Given the description of an element on the screen output the (x, y) to click on. 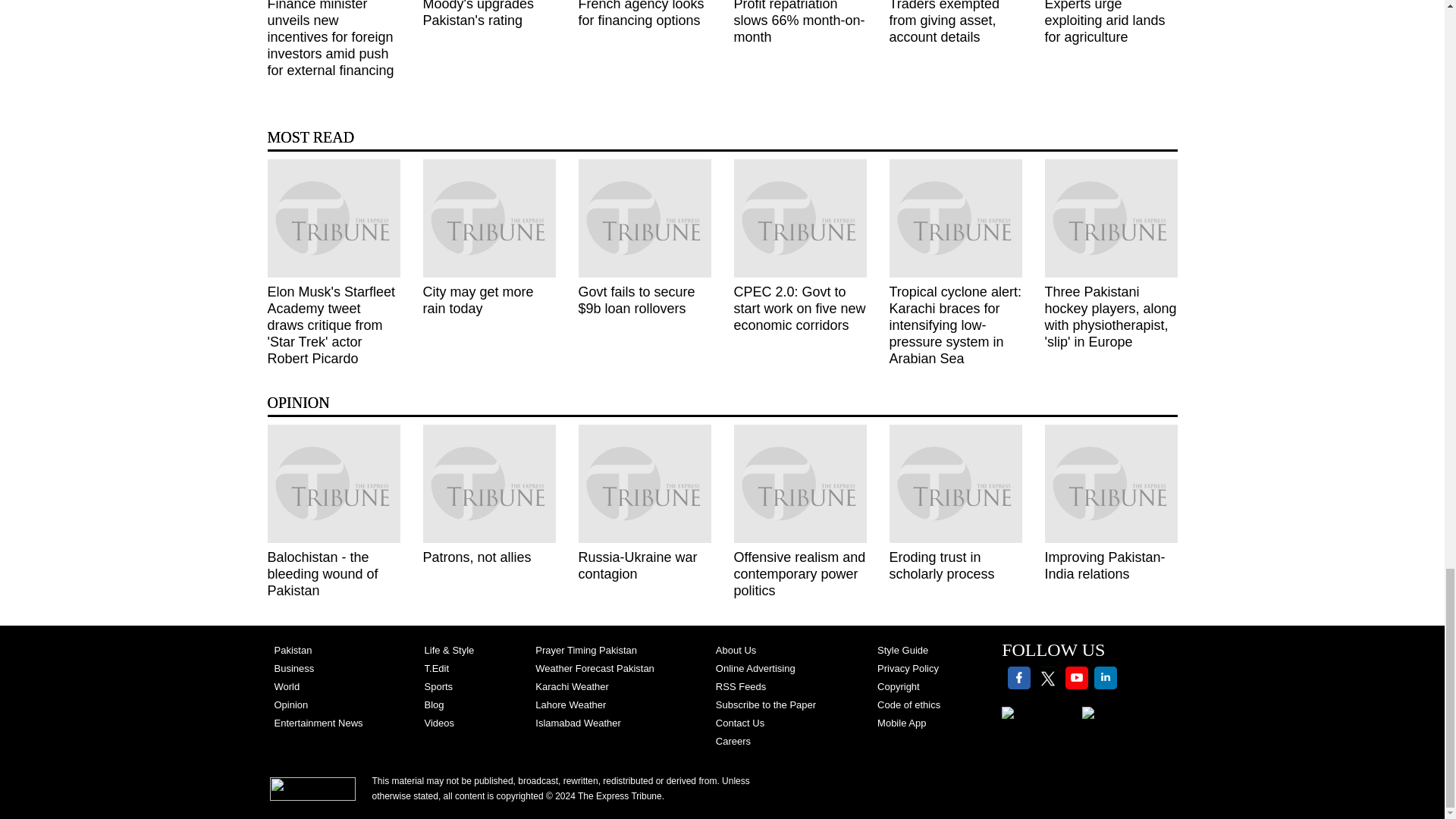
city may get more rain today (489, 217)
balochistan   the bleeding wound of pakistan (332, 483)
patrons not allies (489, 483)
govt fails to secure 9b loan rollovers (644, 217)
cpec 2 0 govt to start work on five new economic corridors (799, 217)
